Given the description of an element on the screen output the (x, y) to click on. 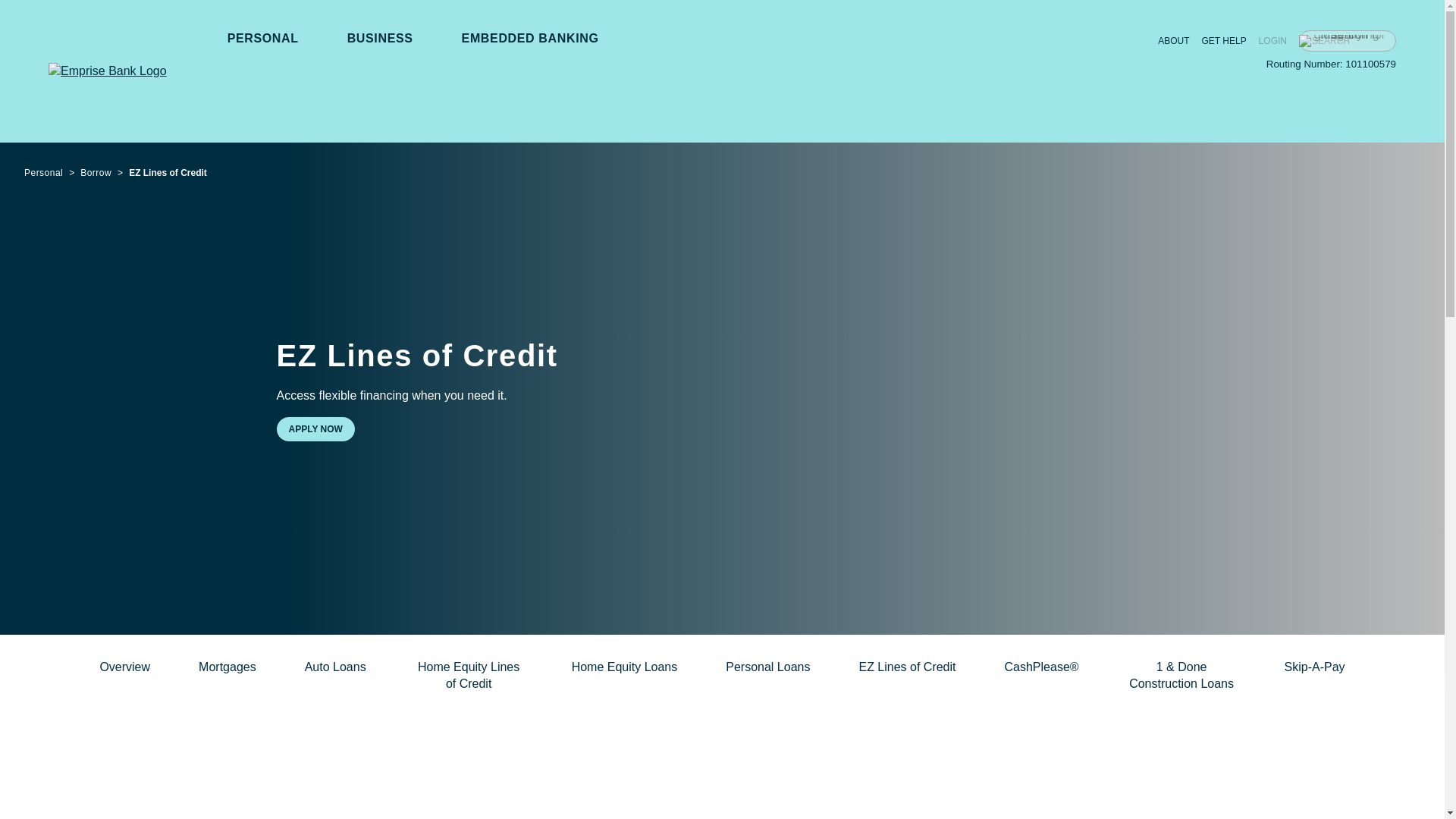
BUSINESS (380, 38)
PERSONAL (262, 38)
